Given the description of an element on the screen output the (x, y) to click on. 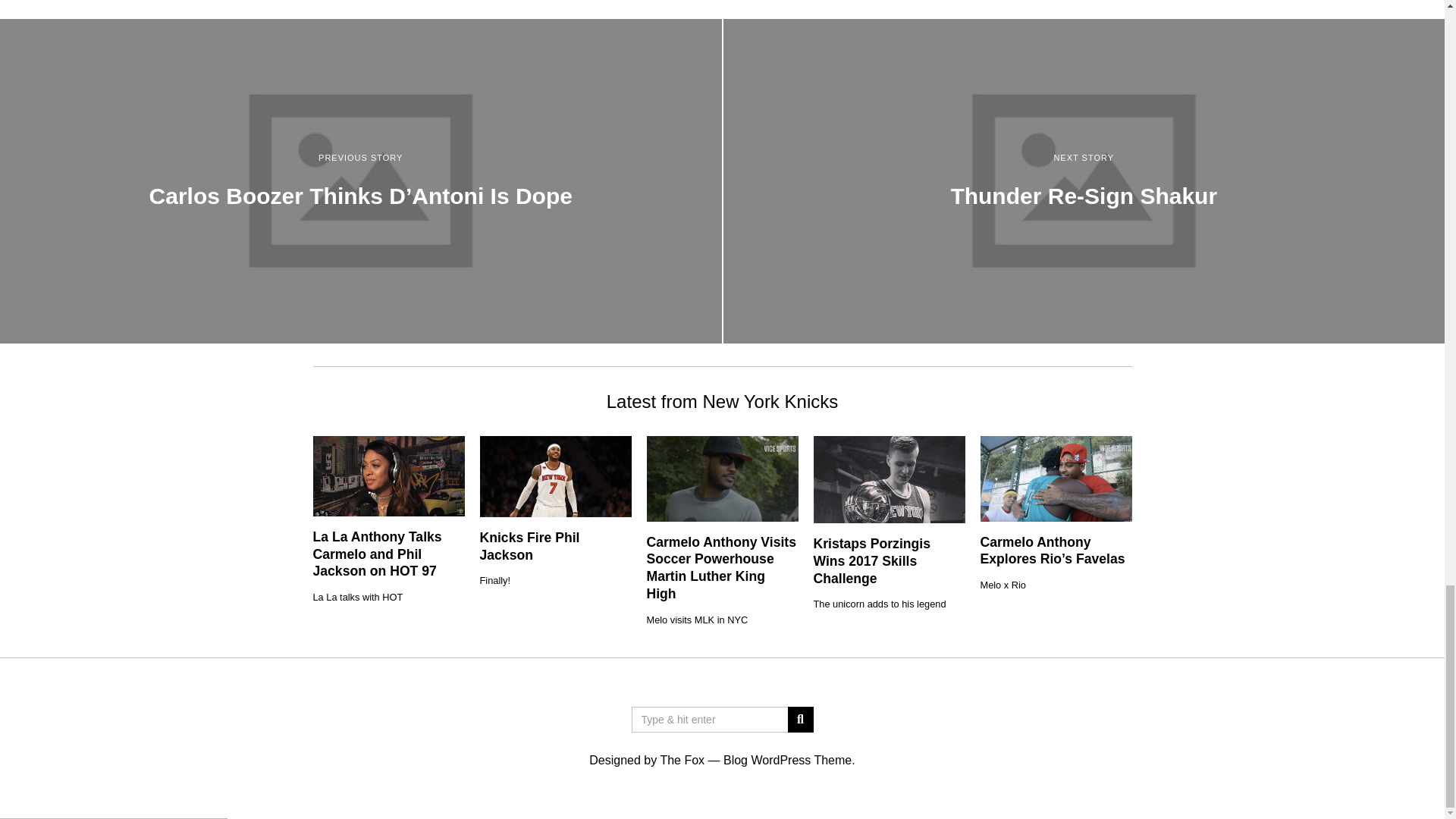
Go (799, 719)
